Given the description of an element on the screen output the (x, y) to click on. 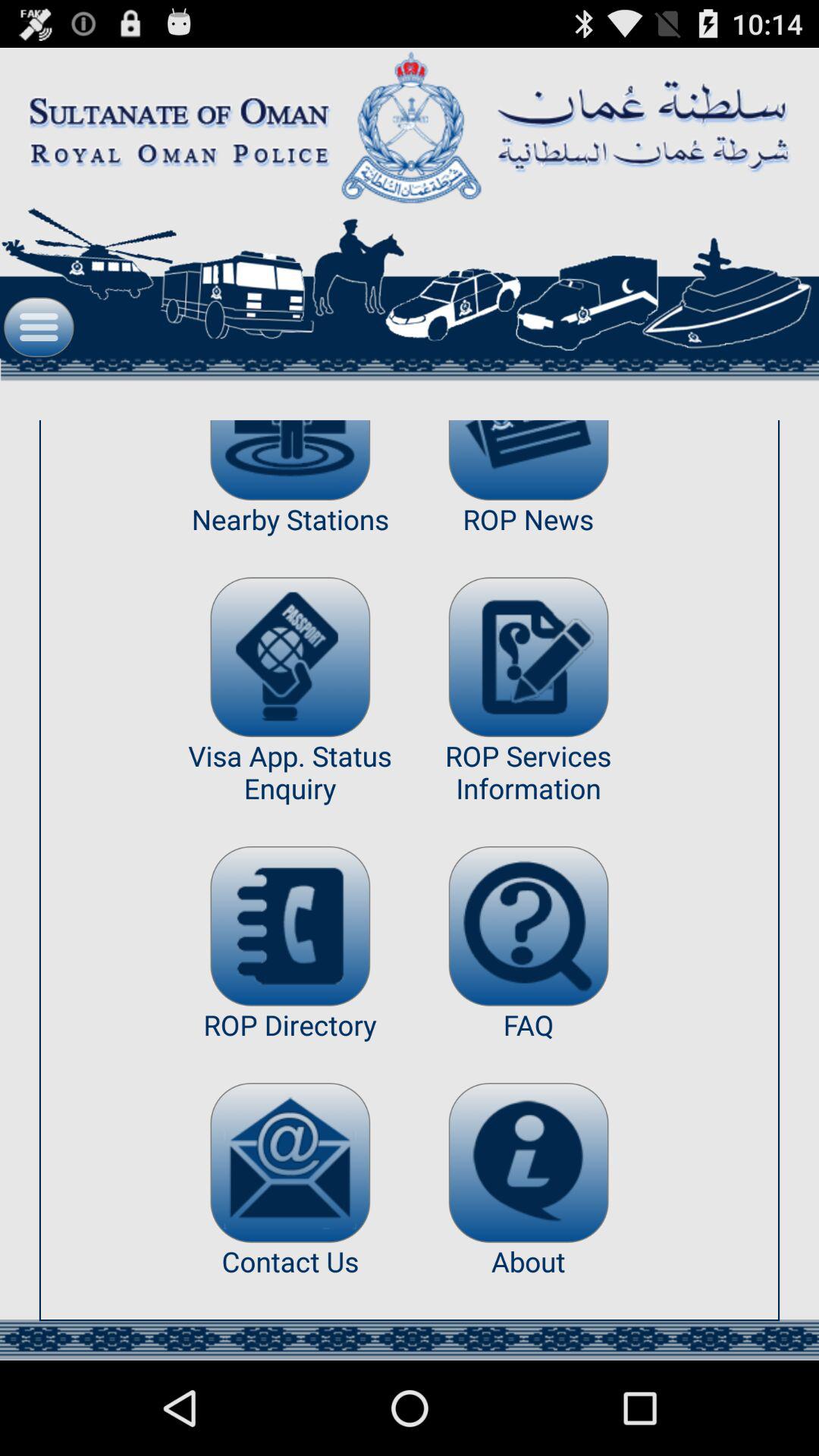
choose app above contact us (290, 1162)
